Given the description of an element on the screen output the (x, y) to click on. 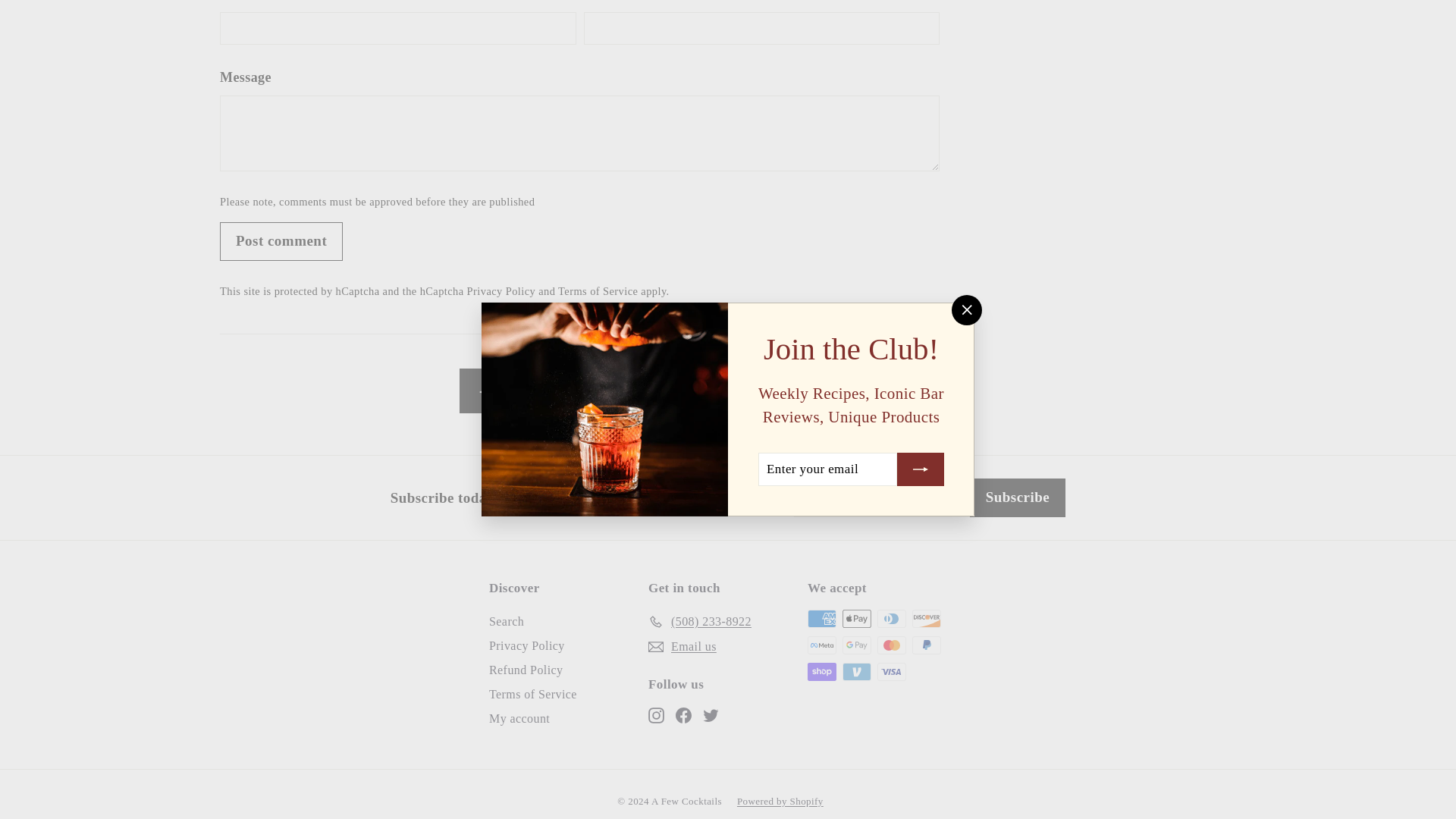
Discover (926, 618)
Visa (891, 671)
Google Pay (856, 645)
Diners Club (891, 618)
American Express (821, 618)
Shop Pay (821, 671)
PayPal (926, 645)
Venmo (856, 671)
Apple Pay (856, 618)
Mastercard (891, 645)
Meta Pay (821, 645)
